Given the description of an element on the screen output the (x, y) to click on. 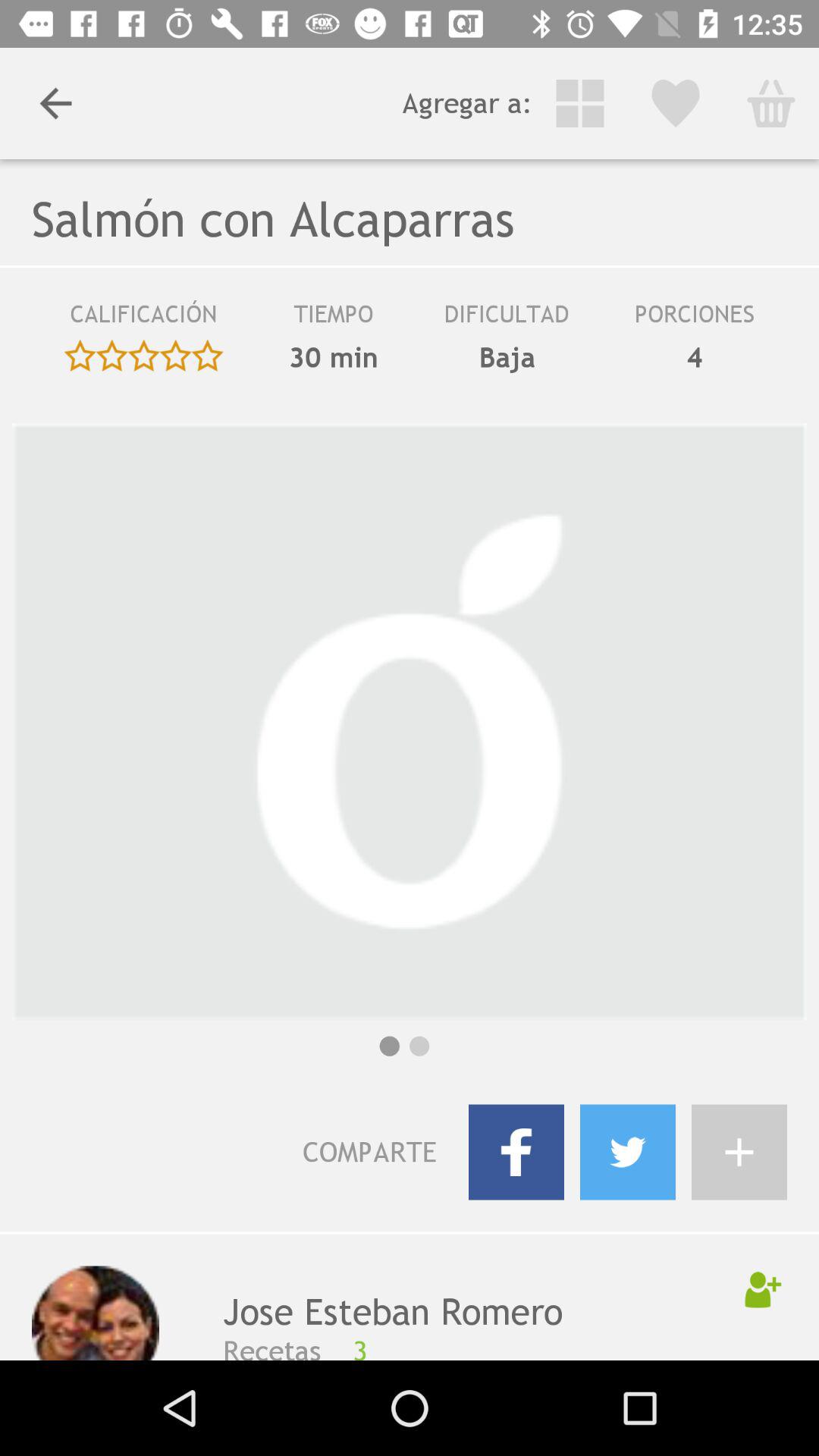
add social media account (739, 1152)
